Given the description of an element on the screen output the (x, y) to click on. 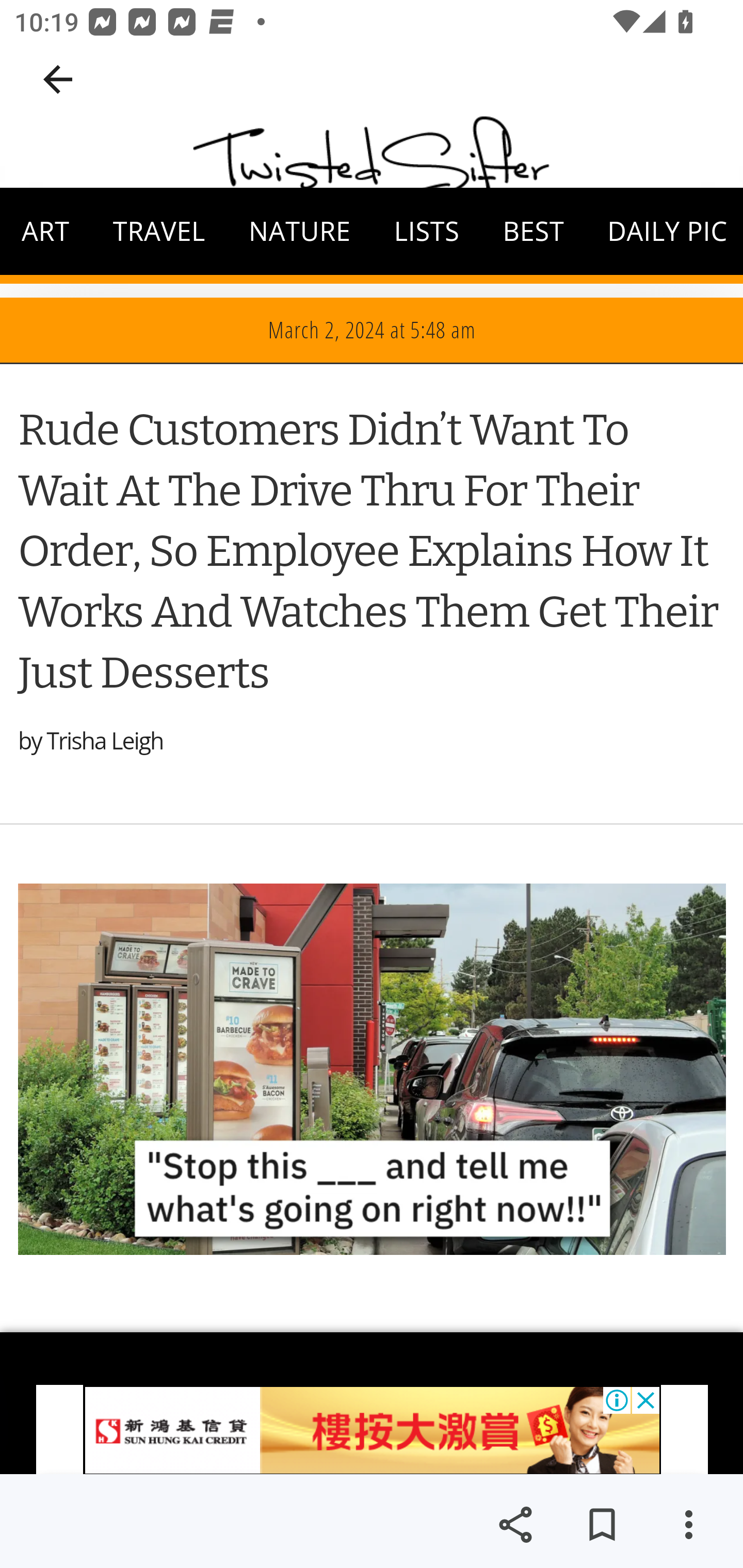
Navigate up (57, 79)
ART (46, 231)
TRAVEL (159, 231)
NATURE (299, 231)
LISTS (427, 231)
BEST (533, 231)
DAILY PIC (664, 231)
Advertisement (371, 1402)
Share (514, 1524)
Save for later (601, 1524)
More options (688, 1524)
